Given the description of an element on the screen output the (x, y) to click on. 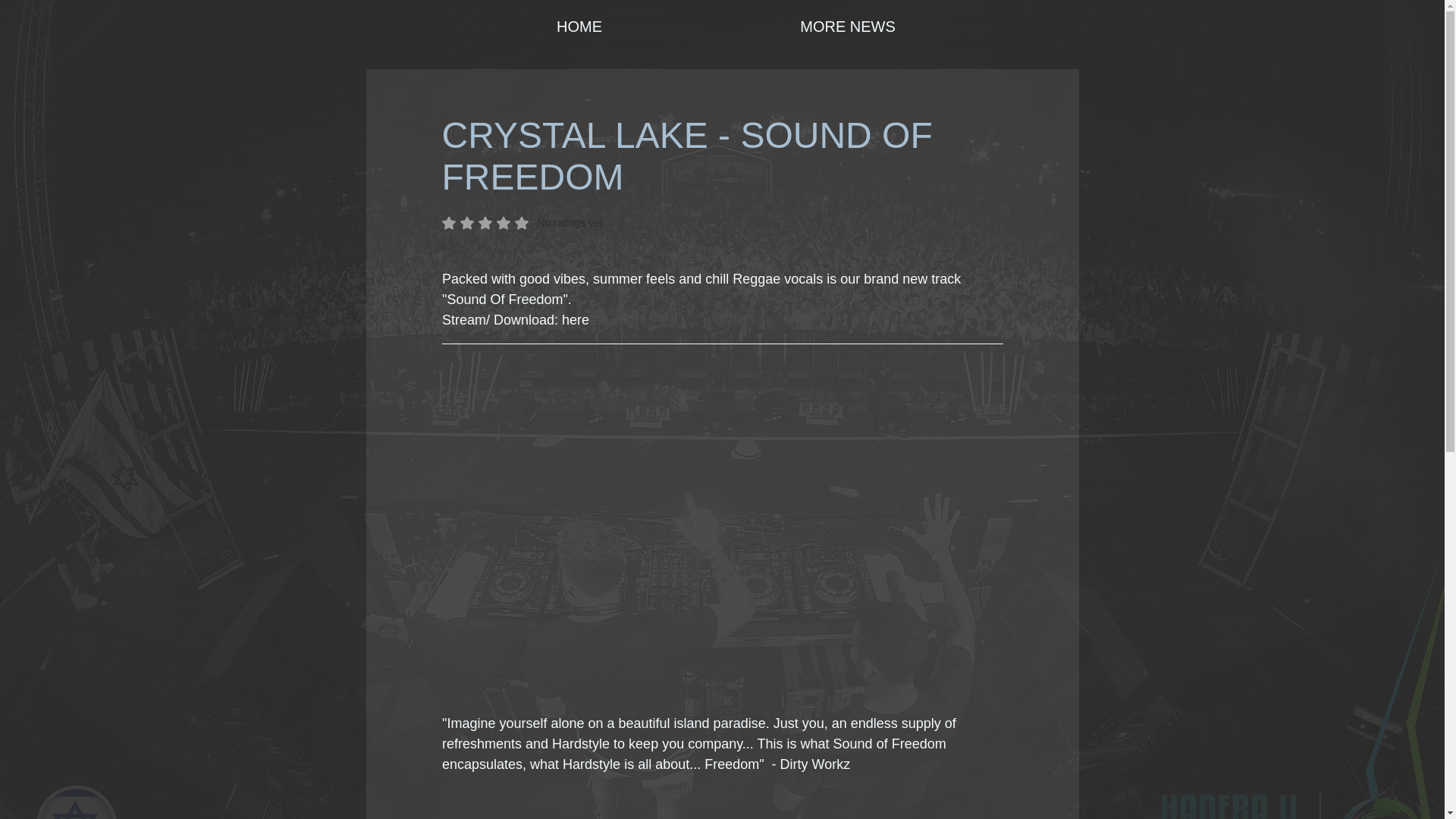
MORE NEWS (847, 26)
here (575, 319)
HOME (578, 26)
